Given the description of an element on the screen output the (x, y) to click on. 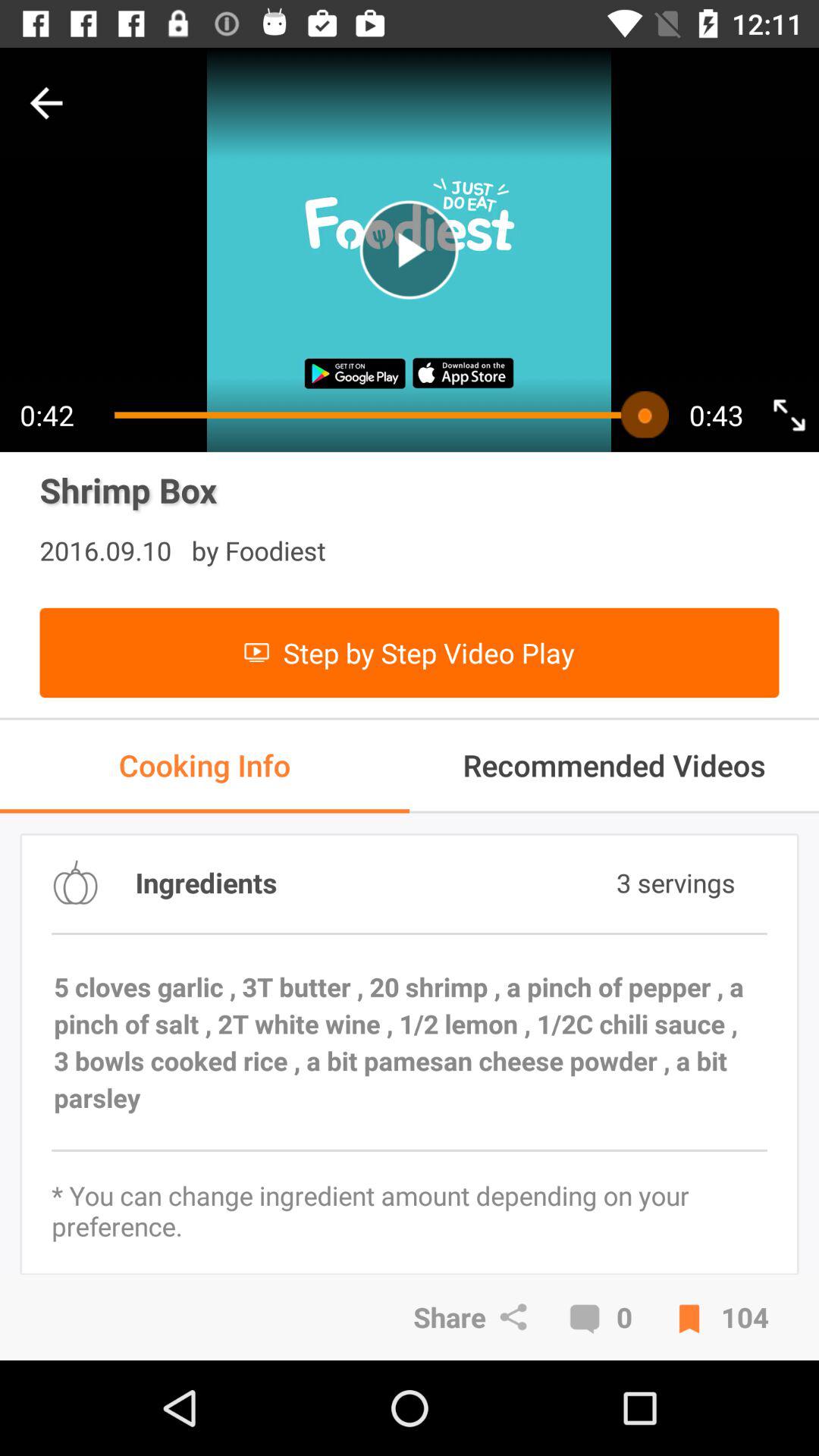
toggle full screen (789, 414)
